Given the description of an element on the screen output the (x, y) to click on. 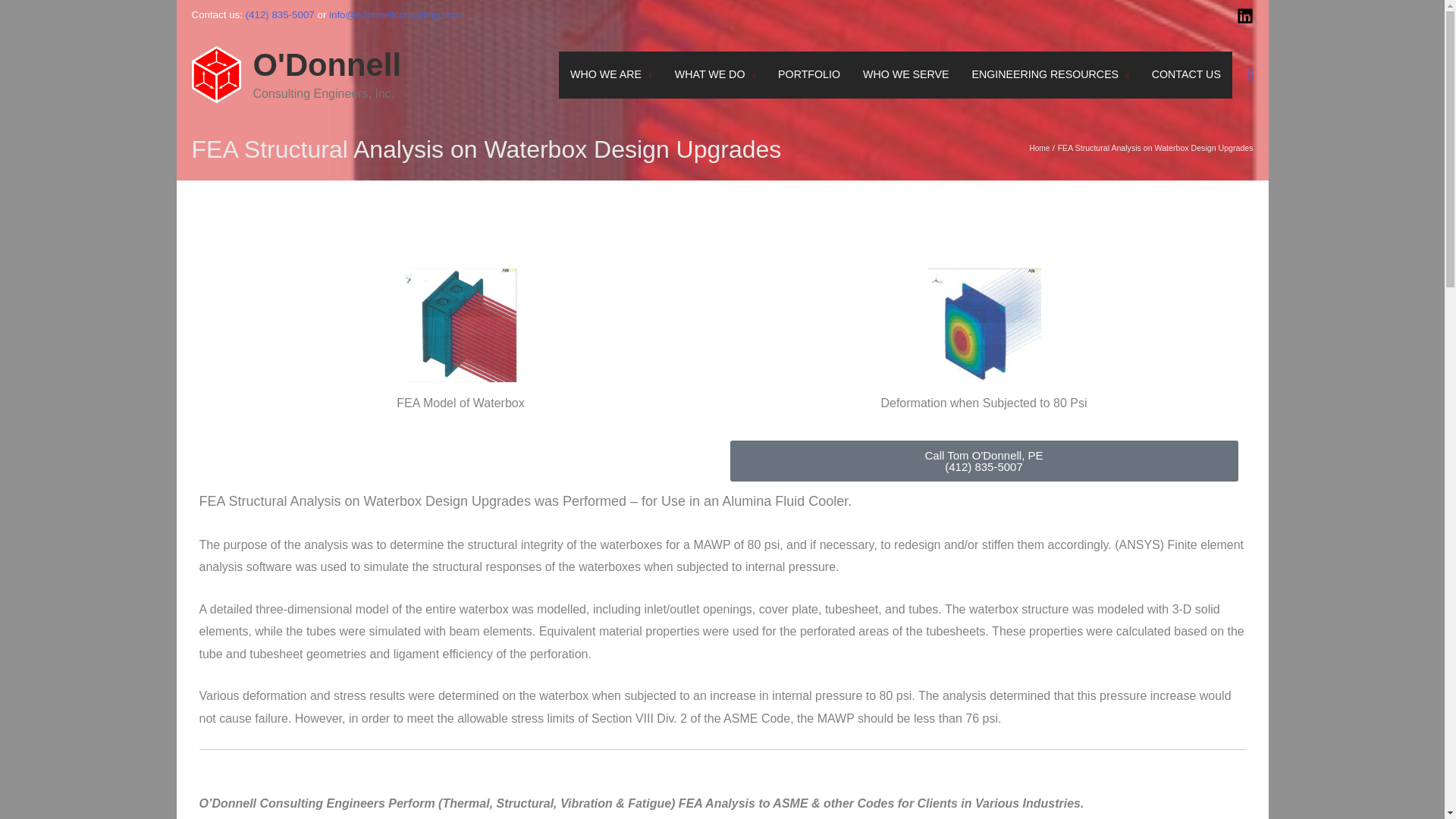
WHAT WE DO (715, 74)
WHO WE ARE (611, 74)
O'Donnell (327, 64)
